Given the description of an element on the screen output the (x, y) to click on. 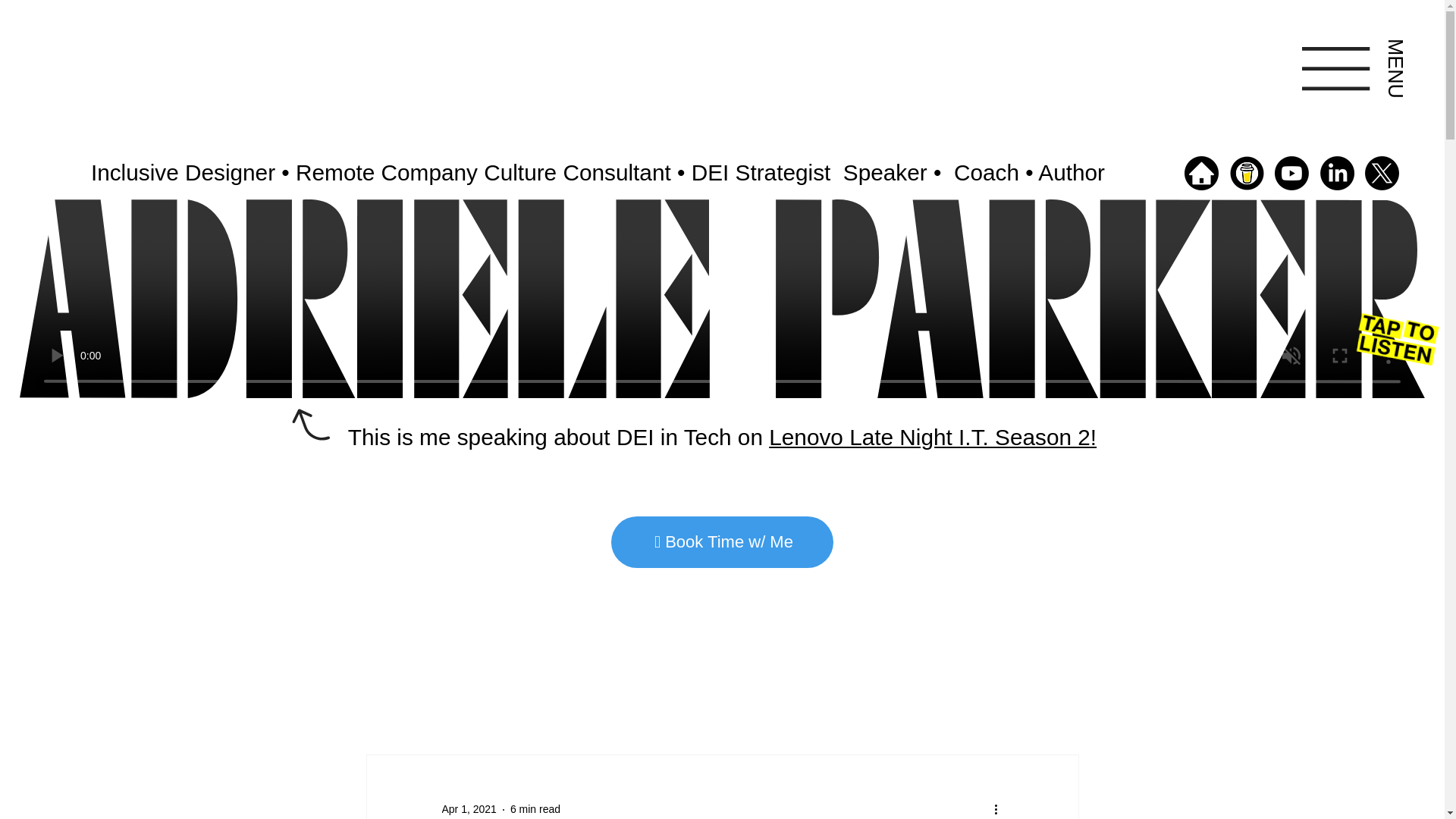
Lenovo Late Night I.T. Season 2! (932, 437)
Apr 1, 2021 (468, 808)
6 min read (535, 808)
